Given the description of an element on the screen output the (x, y) to click on. 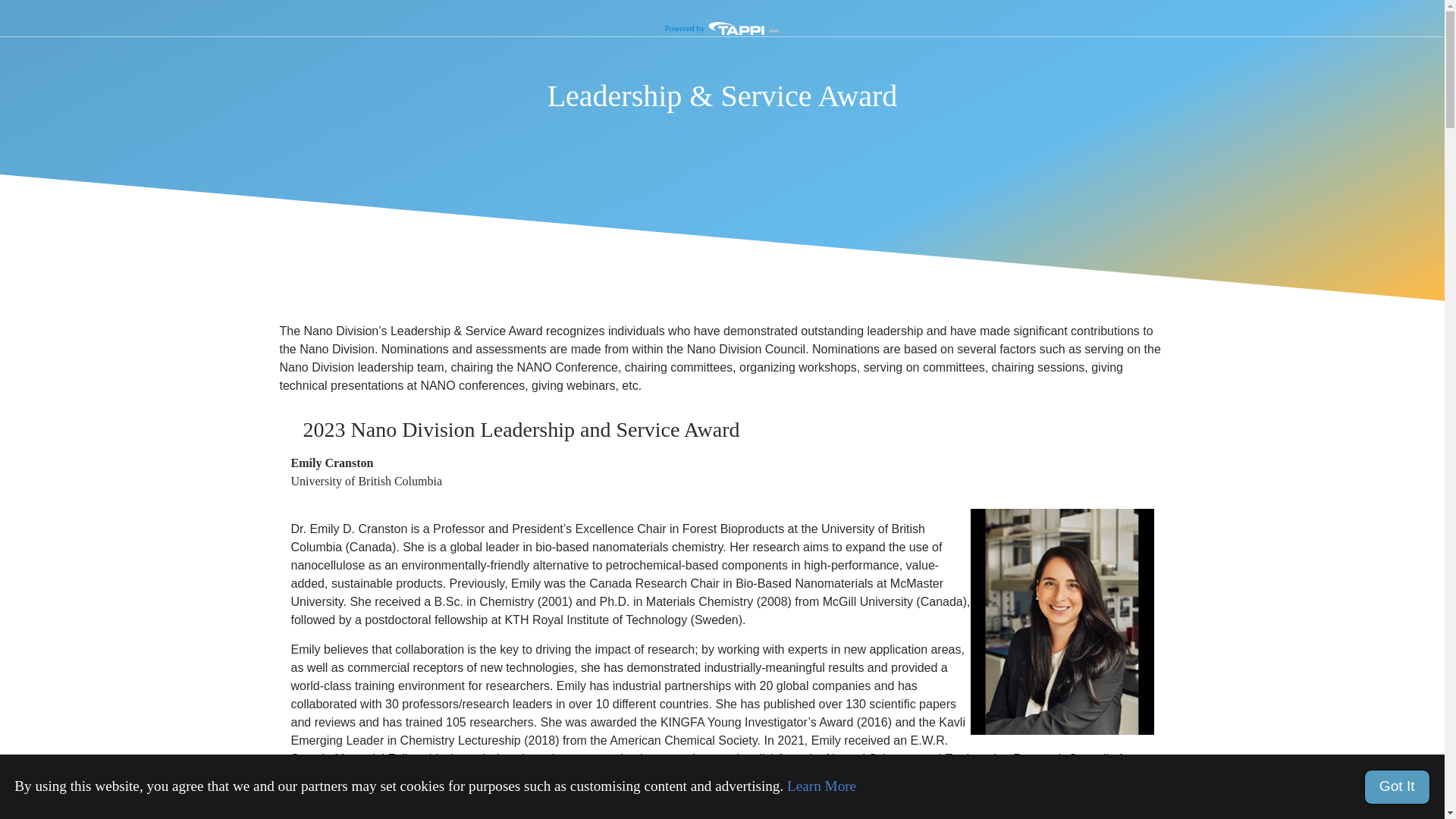
Learn More (821, 785)
Got It (1396, 786)
Powered by (715, 26)
Learn More (821, 785)
